Given the description of an element on the screen output the (x, y) to click on. 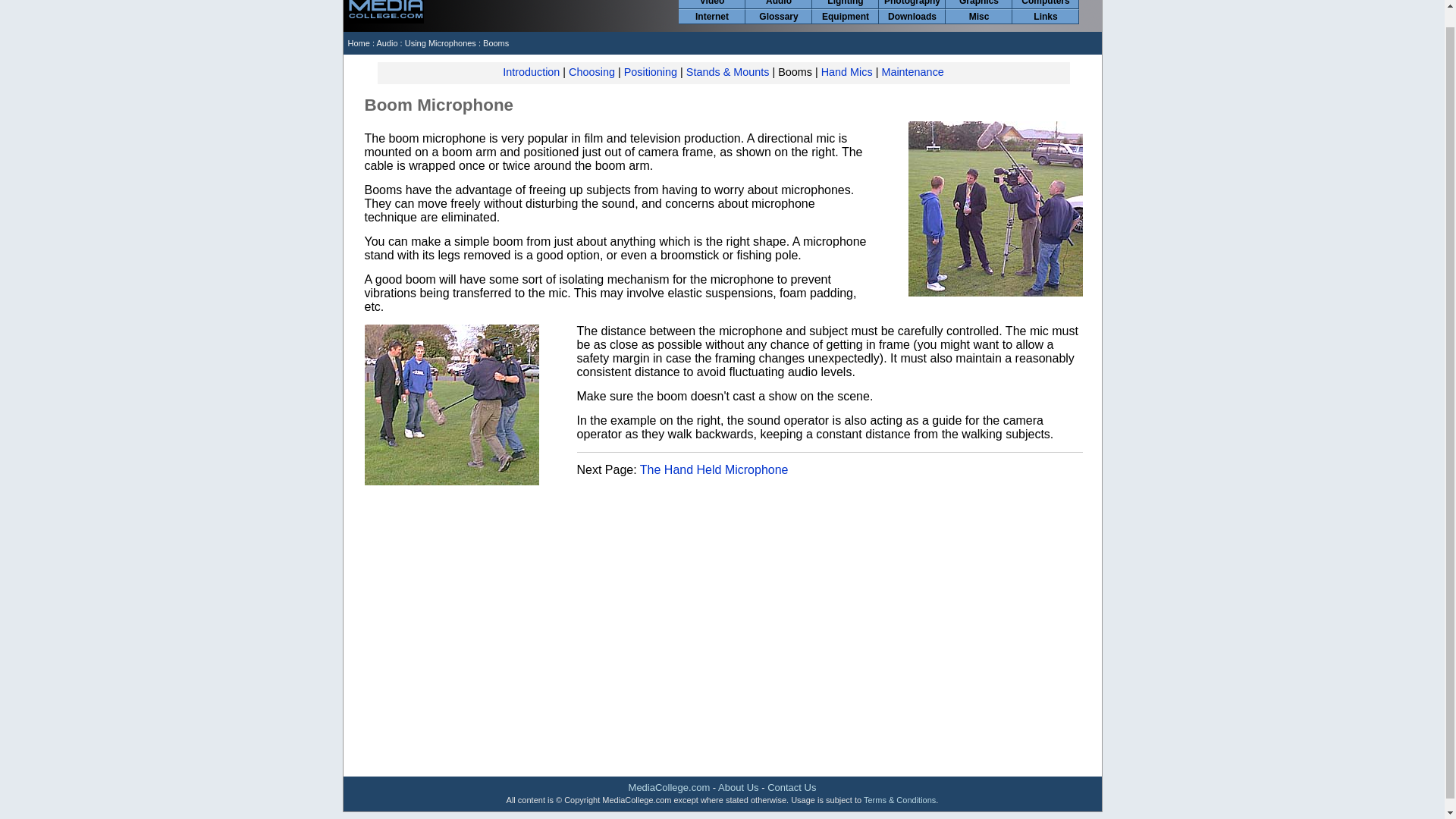
Choosing (591, 71)
Audio (778, 4)
Links (1045, 16)
Computers (1045, 4)
Audio (386, 42)
Introduction (530, 71)
Contact Us (791, 787)
Positioning (650, 71)
Graphics (978, 4)
